Given the description of an element on the screen output the (x, y) to click on. 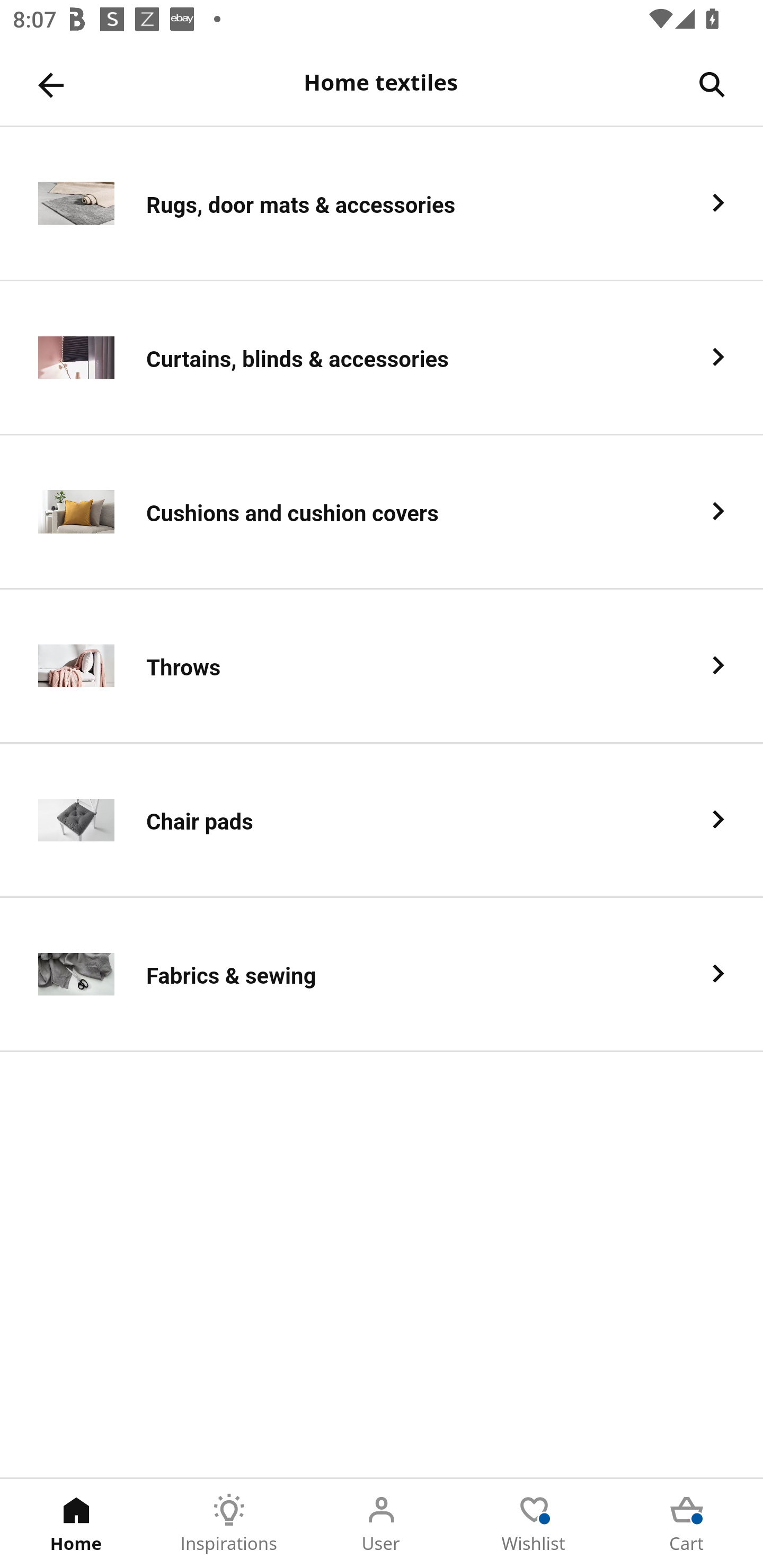
Rugs, door mats & accessories (381, 203)
Curtains, blinds & accessories (381, 357)
Cushions and cushion covers (381, 512)
Throws (381, 666)
Chair pads (381, 820)
Fabrics & sewing (381, 975)
Home
Tab 1 of 5 (76, 1522)
Inspirations
Tab 2 of 5 (228, 1522)
User
Tab 3 of 5 (381, 1522)
Wishlist
Tab 4 of 5 (533, 1522)
Cart
Tab 5 of 5 (686, 1522)
